Given the description of an element on the screen output the (x, y) to click on. 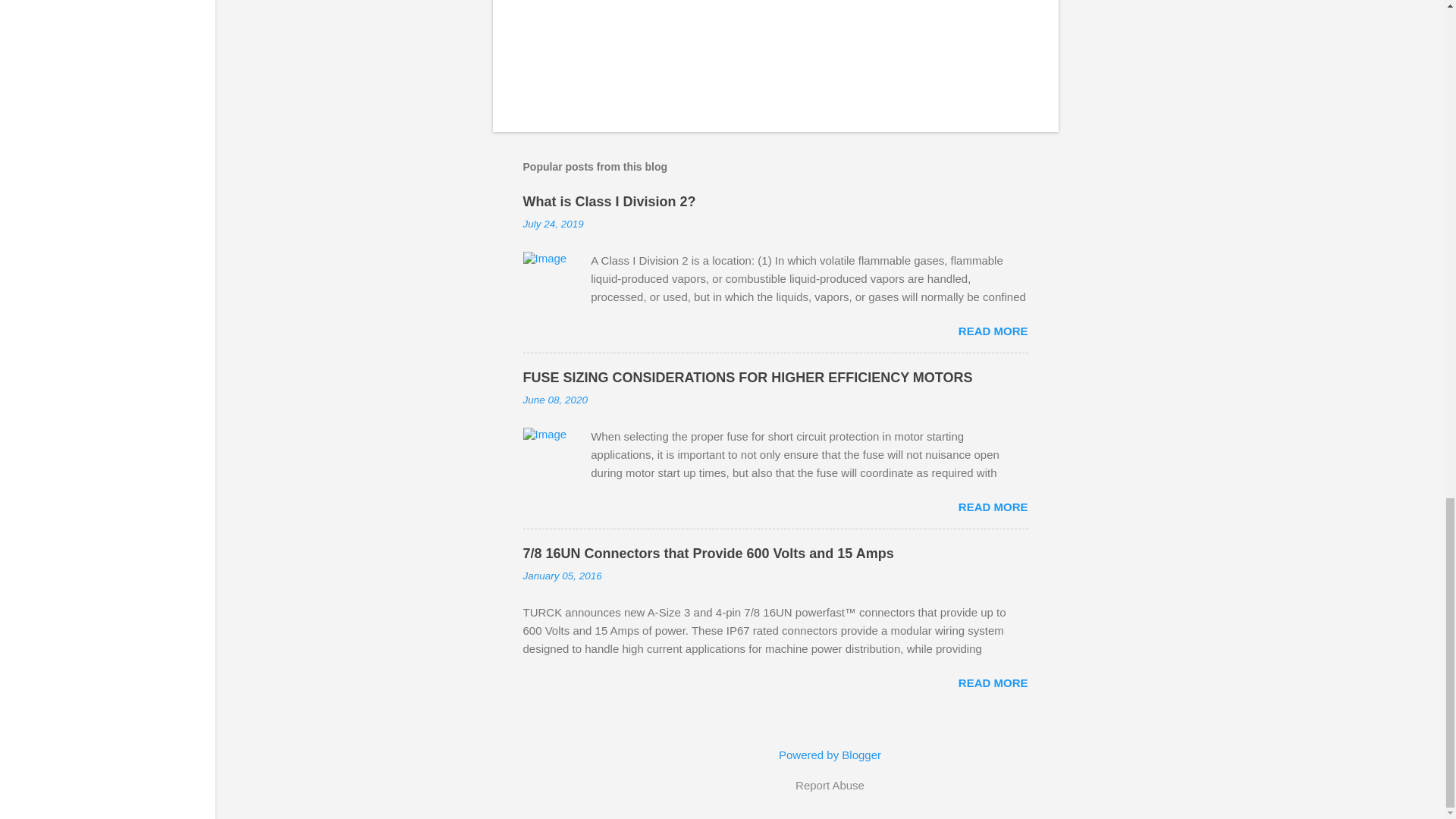
June 08, 2020 (555, 399)
FUSE SIZING CONSIDERATIONS FOR HIGHER EFFICIENCY MOTORS (747, 377)
What is Class I Division 2? (608, 201)
READ MORE (992, 682)
January 05, 2016 (562, 575)
READ MORE (992, 506)
Powered by Blogger (829, 754)
July 24, 2019 (552, 224)
Report Abuse (829, 785)
READ MORE (992, 330)
